Given the description of an element on the screen output the (x, y) to click on. 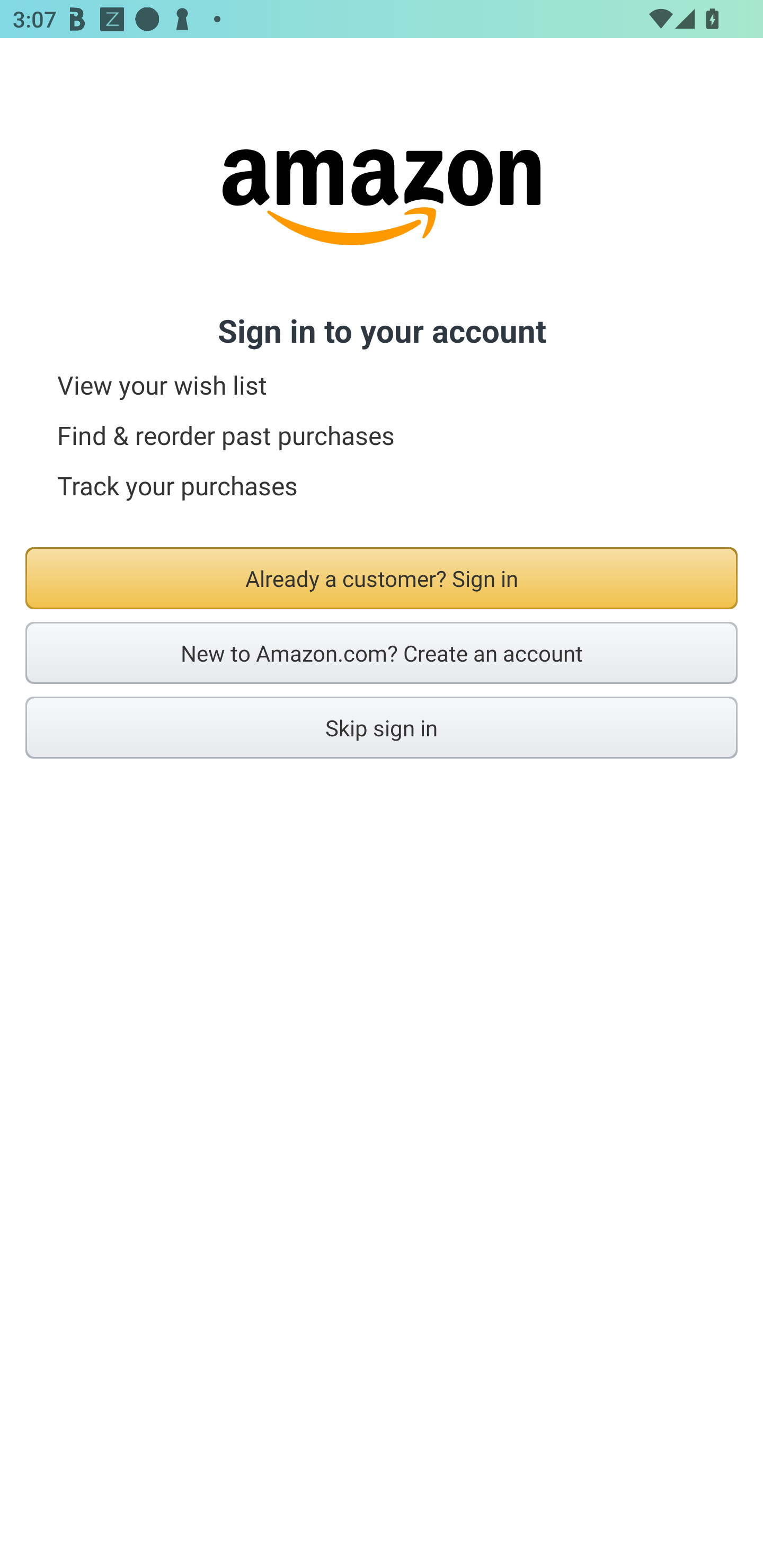
Already a customer? Sign in (381, 578)
New to Amazon.com? Create an account (381, 652)
Skip sign in (381, 727)
